Given the description of an element on the screen output the (x, y) to click on. 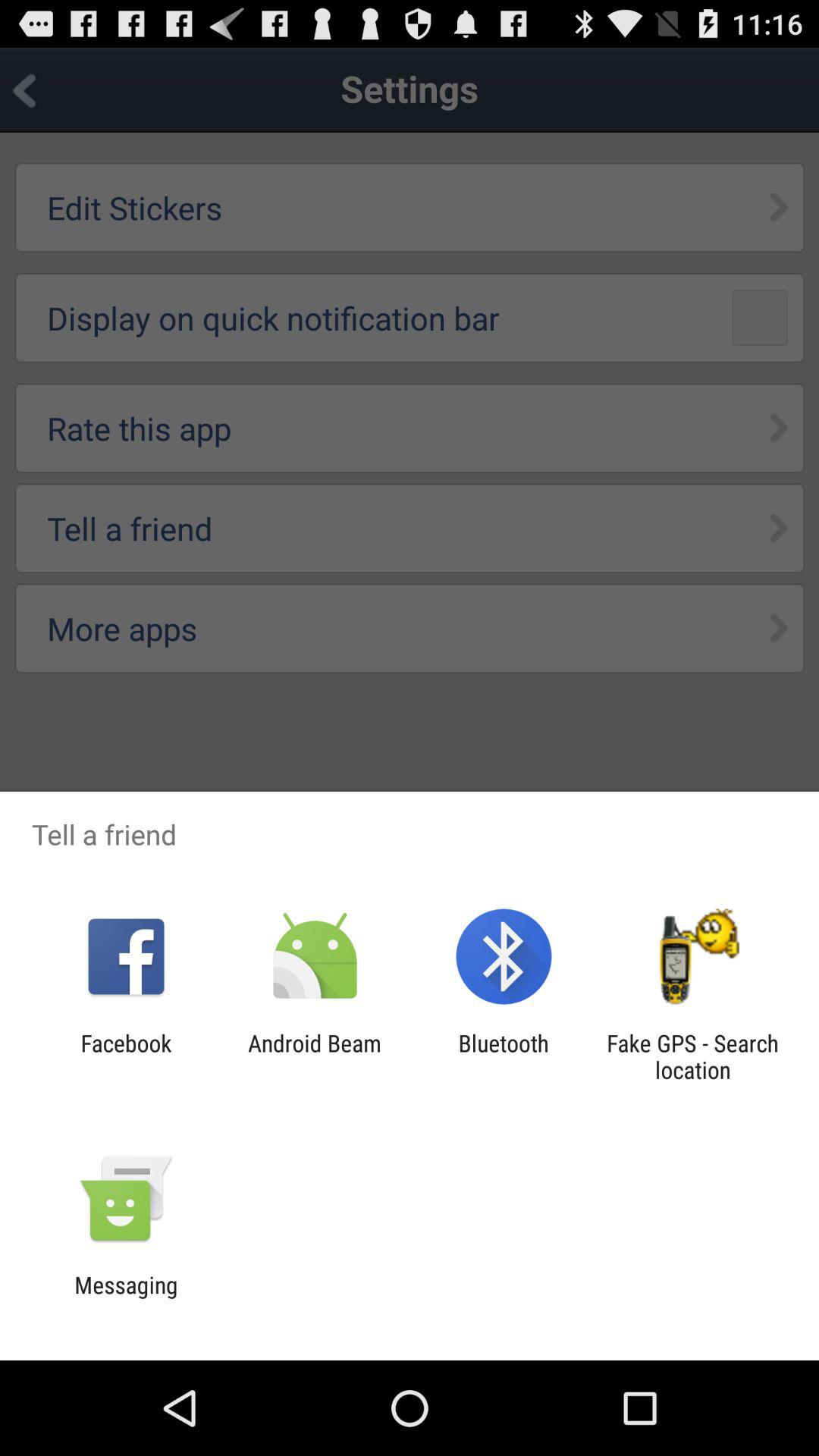
turn off the bluetooth app (503, 1056)
